Given the description of an element on the screen output the (x, y) to click on. 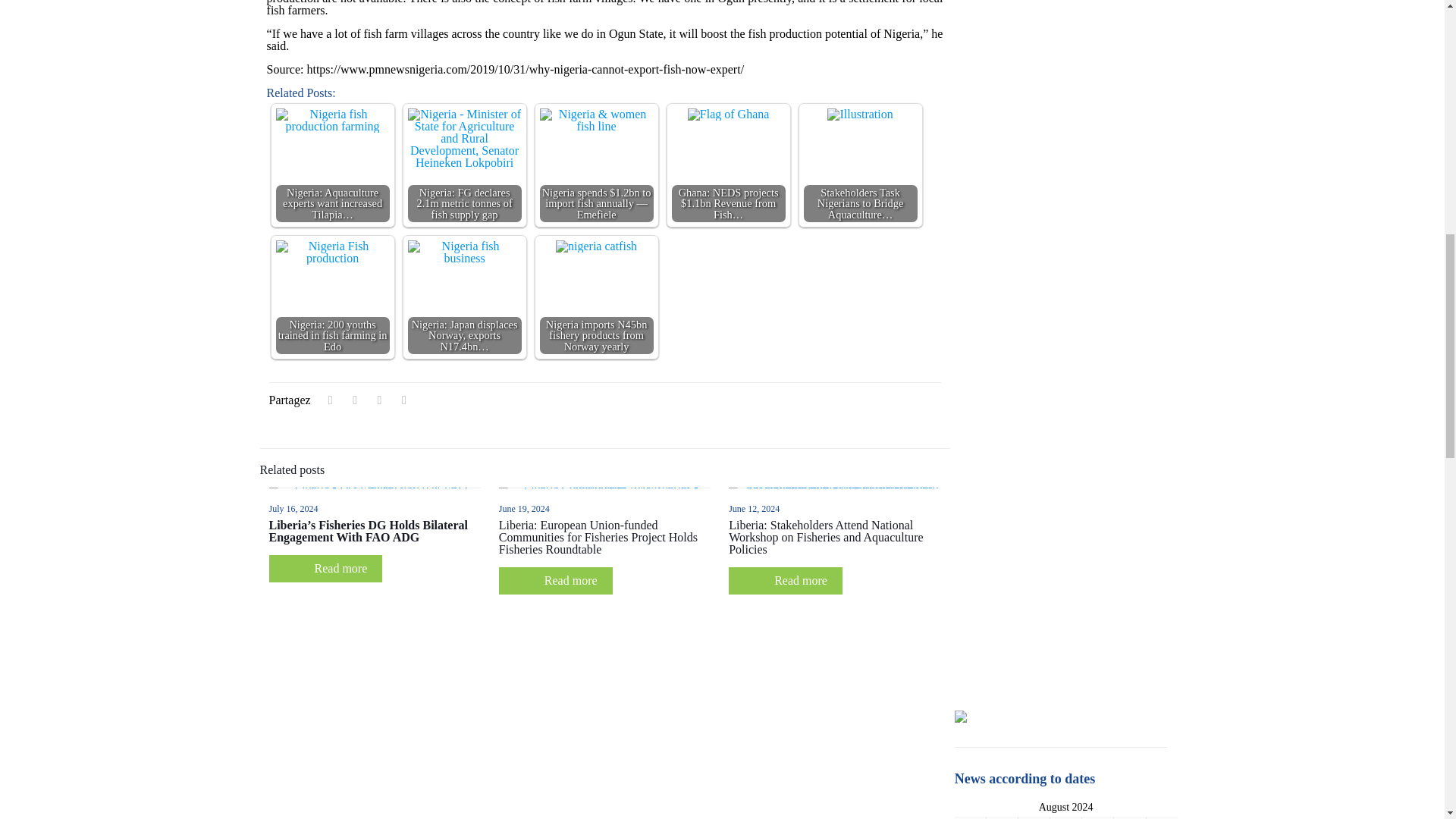
Nigeria imports N45bn fishery products from Norway yearly (596, 246)
Saturday (1129, 817)
Nigeria: 200 youths trained in fish farming in Edo (333, 252)
Monday (970, 817)
Nigeria: FG declares 2.1m metric tonnes of fish supply gap (464, 138)
Tuesday (1001, 817)
Sunday (1160, 817)
Wednesday (1033, 817)
Friday (1097, 817)
Thursday (1065, 817)
